Given the description of an element on the screen output the (x, y) to click on. 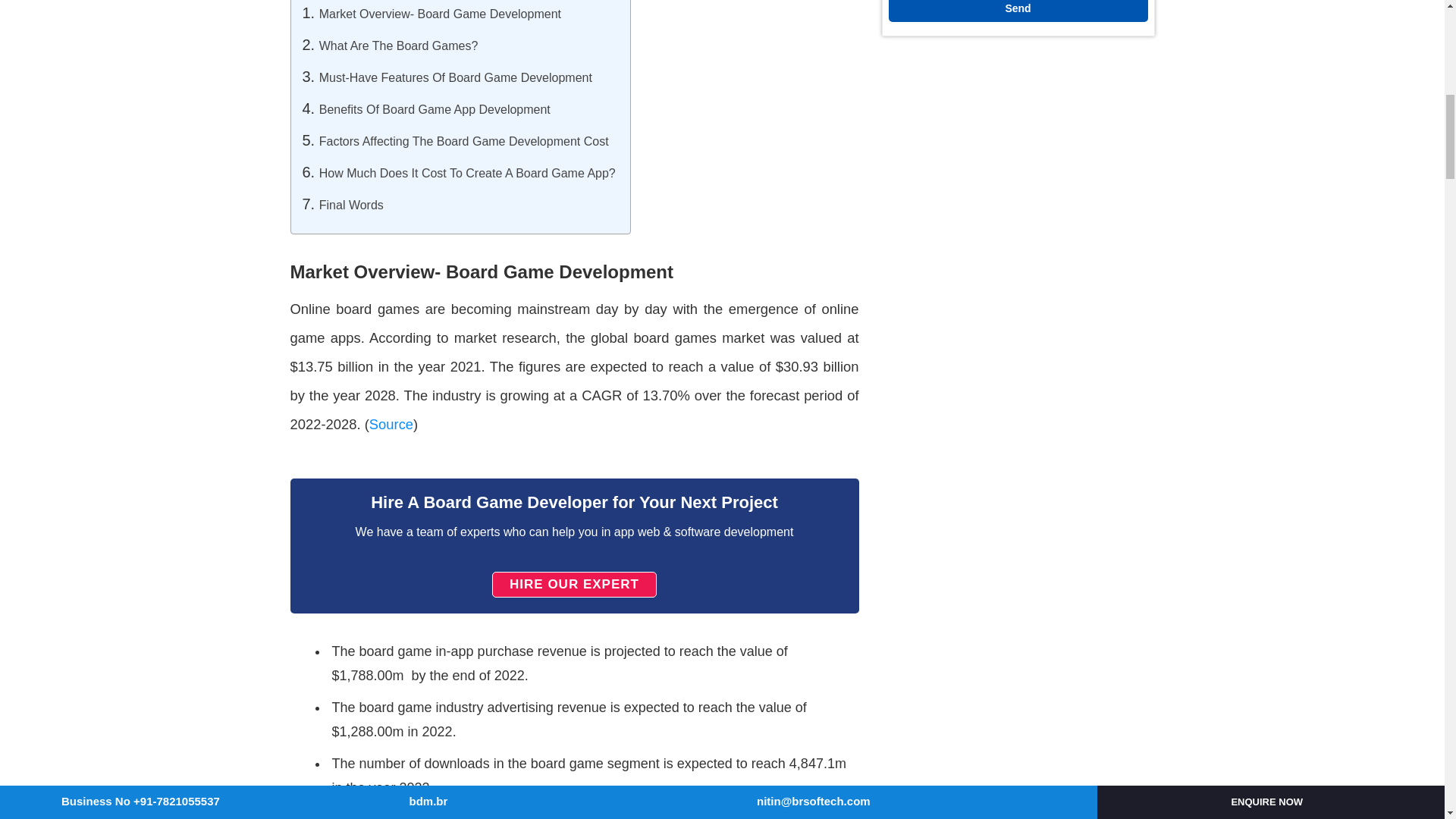
Market Overview- Board Game Development (439, 14)
Send (1018, 11)
Benefits of Board Game App Development (434, 109)
Factors Affecting the Board Game Development Cost (463, 141)
